Given the description of an element on the screen output the (x, y) to click on. 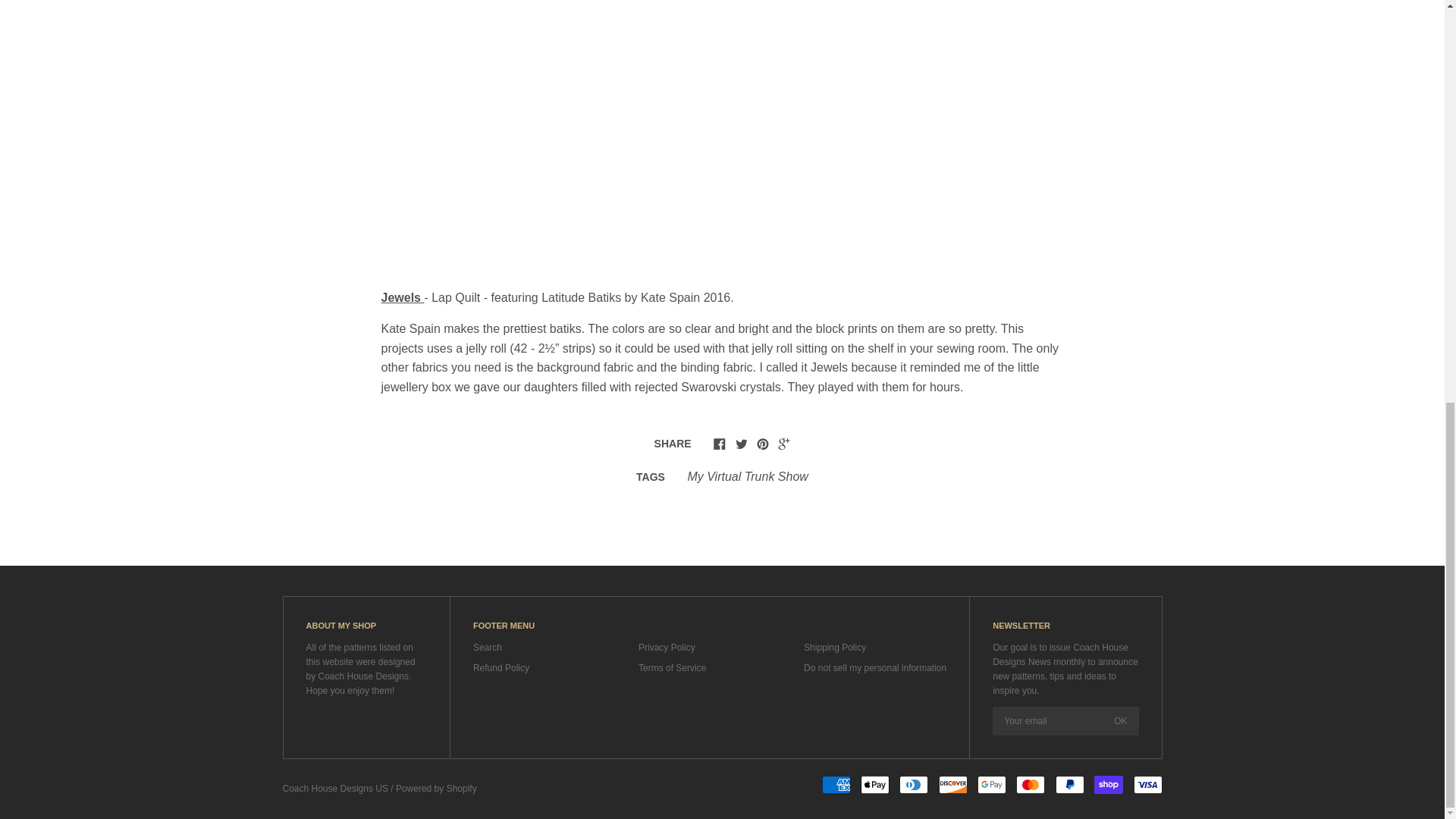
Pinterest (762, 443)
Diners Club (913, 784)
American Express (836, 784)
Discover (953, 784)
Mastercard (1030, 784)
Facebook (719, 443)
PayPal (1069, 784)
Google Pay (991, 784)
Apple Pay (874, 784)
OK (1120, 719)
